Given the description of an element on the screen output the (x, y) to click on. 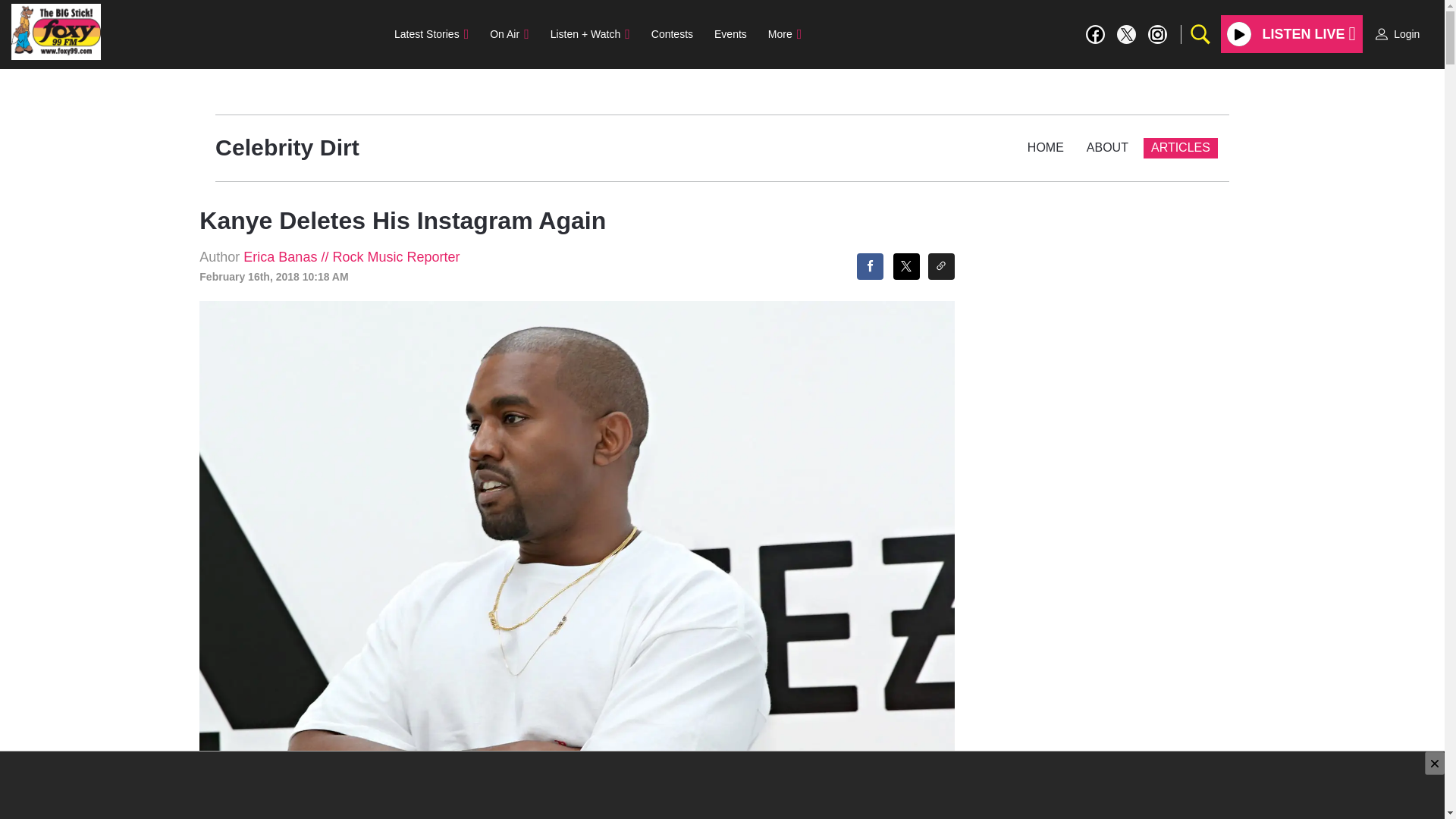
Latest Stories (431, 33)
Close AdCheckmark indicating ad close (1434, 763)
3rd party ad content (721, 785)
On Air (508, 33)
Events (730, 33)
More (784, 33)
Contests (671, 33)
